Given the description of an element on the screen output the (x, y) to click on. 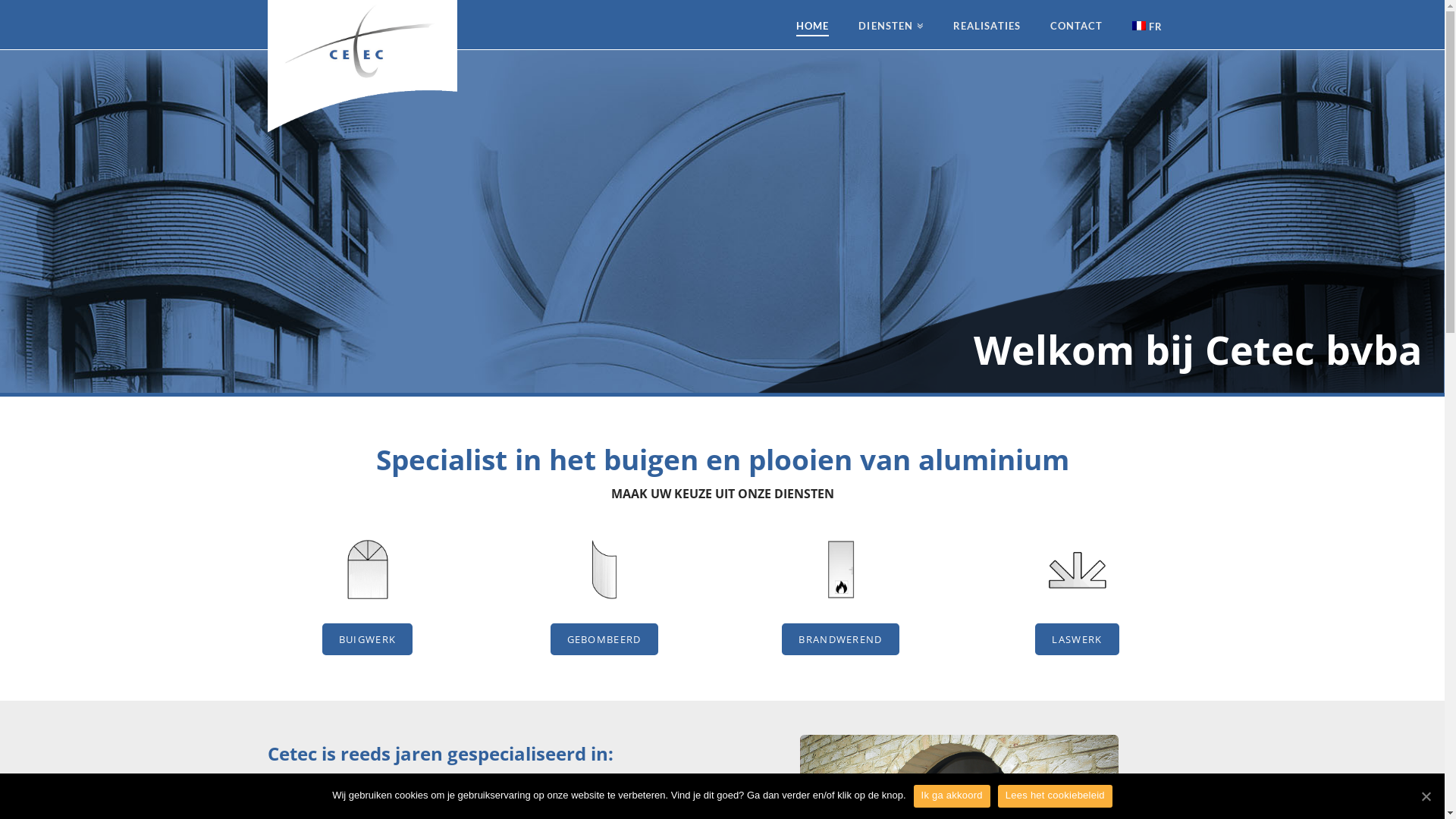
HOME Element type: text (812, 24)
REALISATIES Element type: text (986, 24)
GEBOMBEERD Element type: text (604, 639)
DIENSTEN Element type: text (890, 24)
BUIGWERK Element type: text (367, 639)
BRANDWEREND Element type: text (839, 639)
LASWERK Element type: text (1076, 639)
Lees het cookiebeleid Element type: text (1054, 795)
CONTACT Element type: text (1076, 24)
FR Element type: hover (1138, 25)
FR Element type: text (1146, 24)
Ik ga akkoord Element type: text (951, 795)
